Given the description of an element on the screen output the (x, y) to click on. 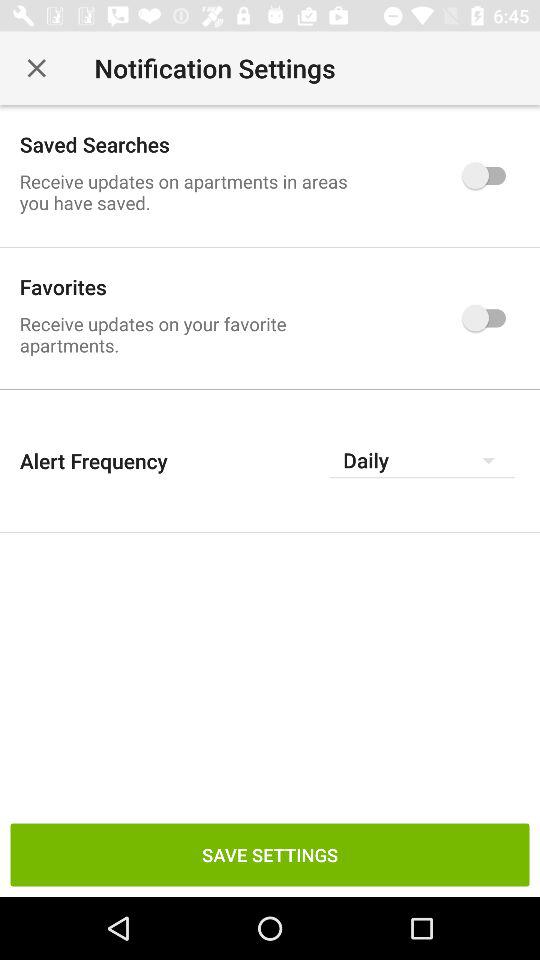
toggle favorites option (488, 318)
